Given the description of an element on the screen output the (x, y) to click on. 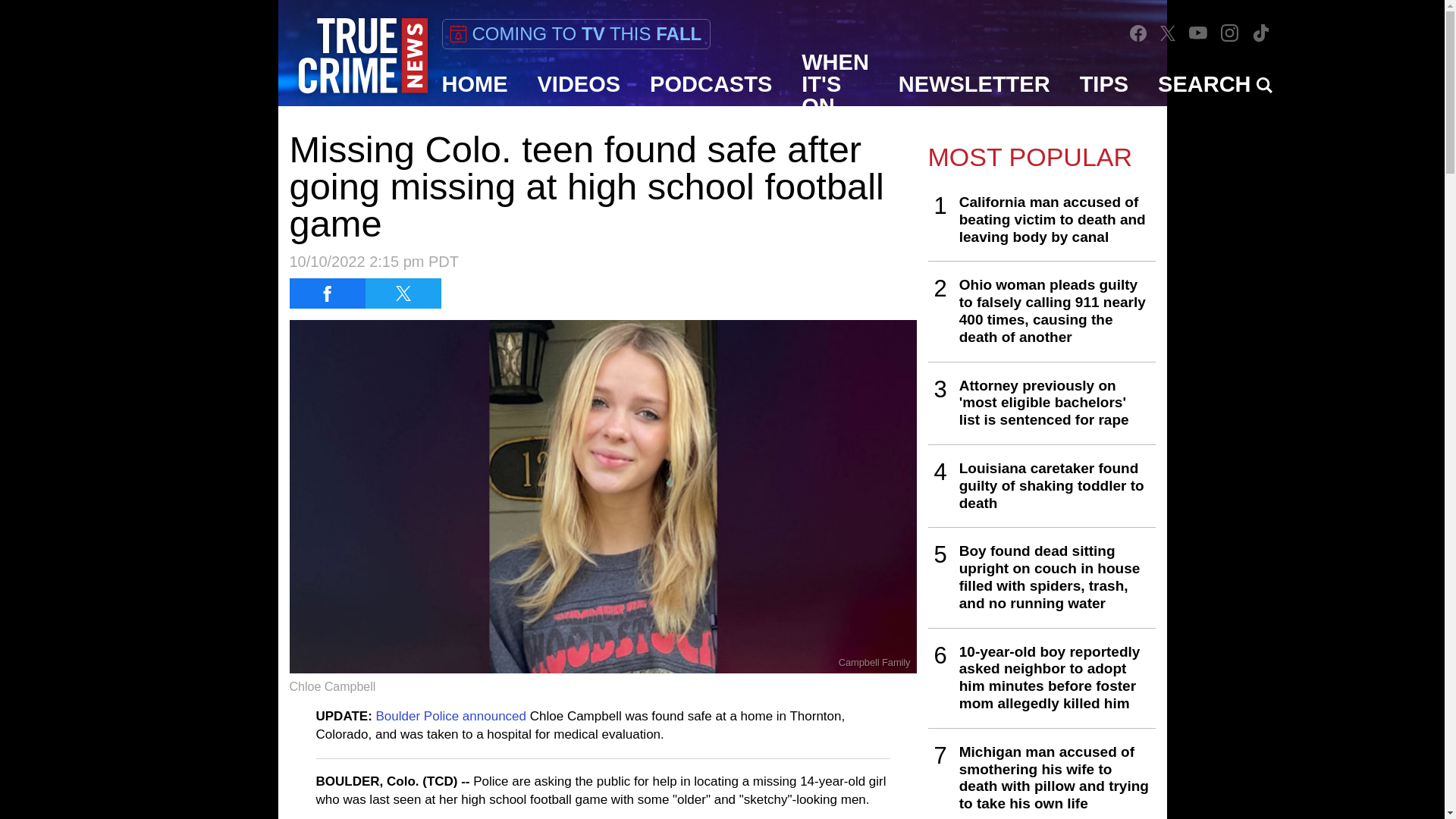
True Crime News (363, 56)
YouTube (1198, 32)
WHEN IT'S ON (835, 84)
True Crime News (363, 56)
PODCASTS (710, 84)
Twitter (1167, 32)
YouTube (1198, 32)
Instagram (1230, 32)
TIPS (1103, 84)
Instagram (1229, 32)
VIDEOS (579, 84)
NEWSLETTER (974, 84)
Facebook (1137, 33)
HOME (475, 84)
SEARCH (1214, 84)
